Given the description of an element on the screen output the (x, y) to click on. 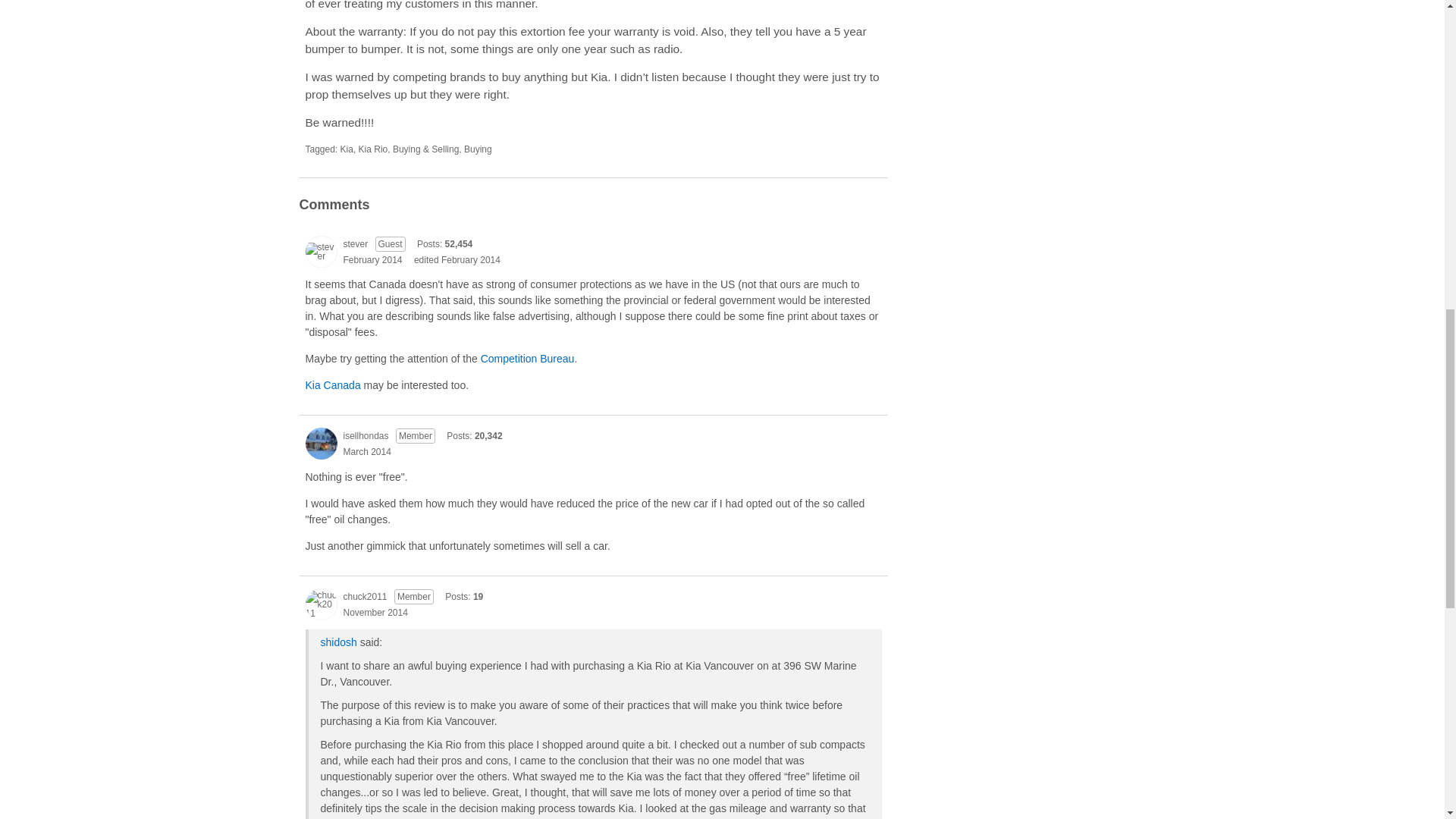
February 28, 2014 7:02PM (371, 259)
stever (355, 243)
isellhondas (365, 436)
February 2014 (371, 259)
March 2014 (366, 451)
Competition Bureau (527, 358)
March 15, 2014 10:42AM (366, 451)
chuck2011 (320, 603)
stever (320, 251)
Buying (478, 149)
